Given the description of an element on the screen output the (x, y) to click on. 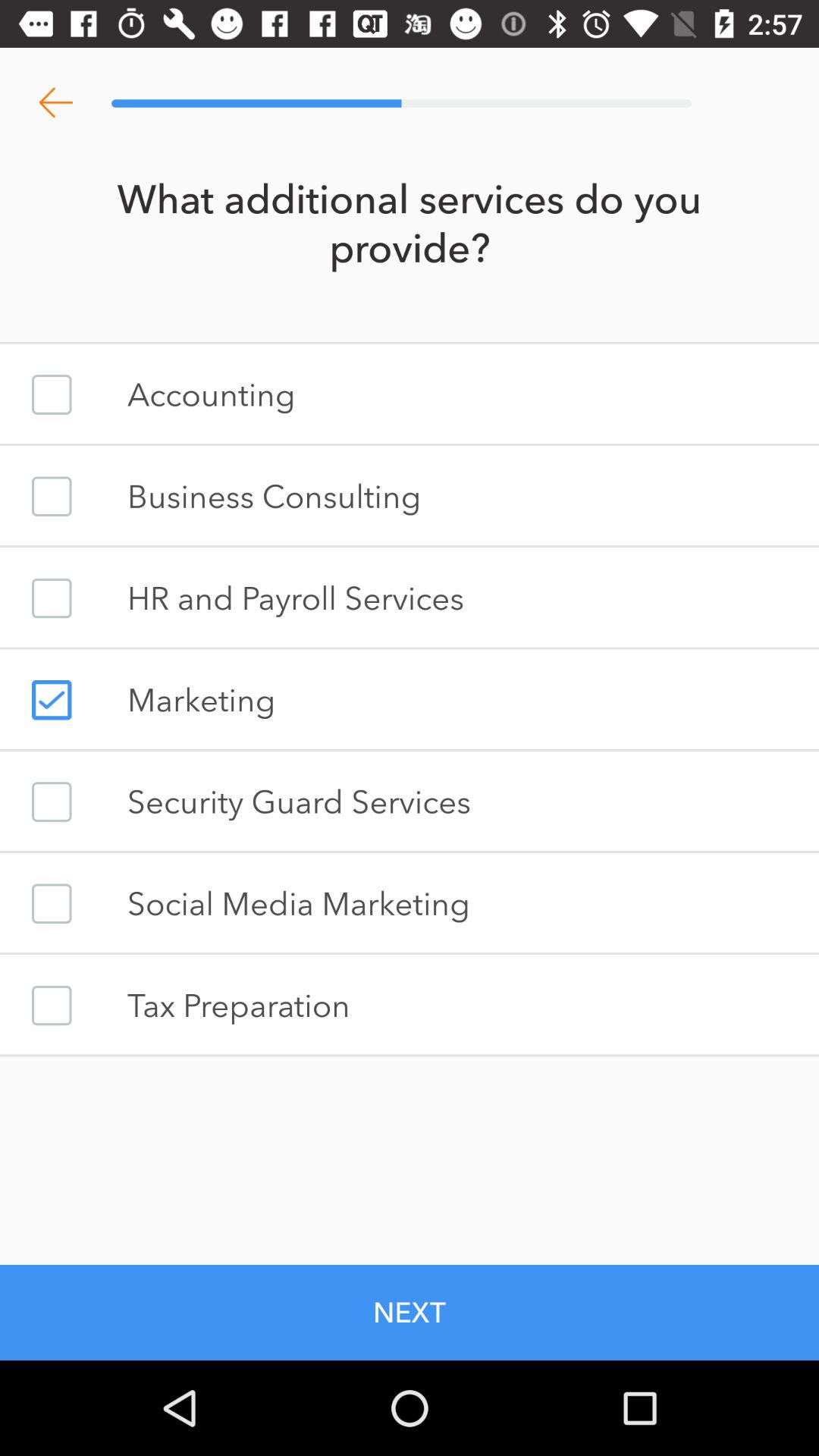
check tax preparation option (51, 1005)
